Given the description of an element on the screen output the (x, y) to click on. 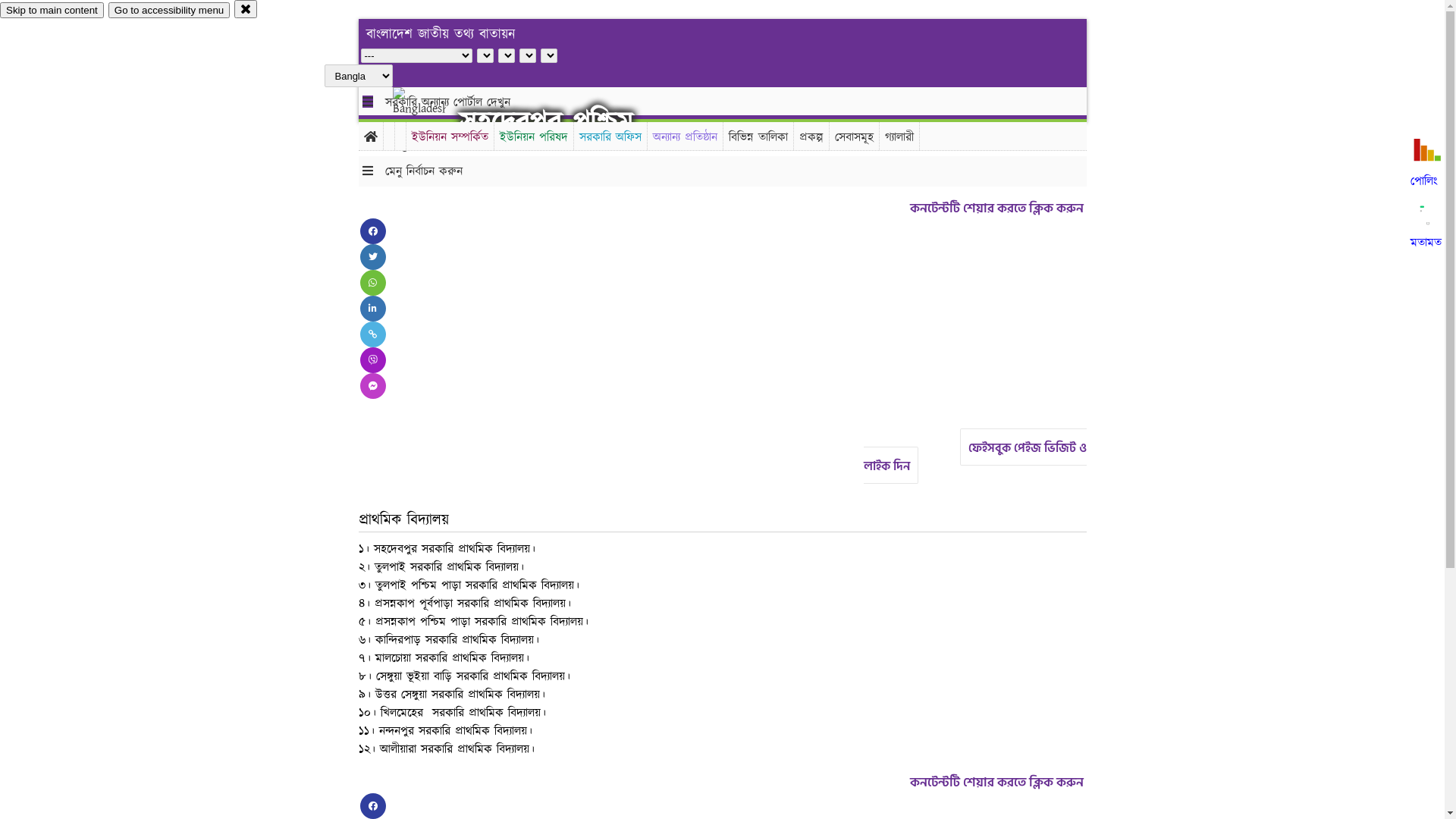
Go to accessibility menu Element type: text (168, 10)
close Element type: hover (245, 9)
Skip to main content Element type: text (51, 10)

                
             Element type: hover (431, 120)
